Given the description of an element on the screen output the (x, y) to click on. 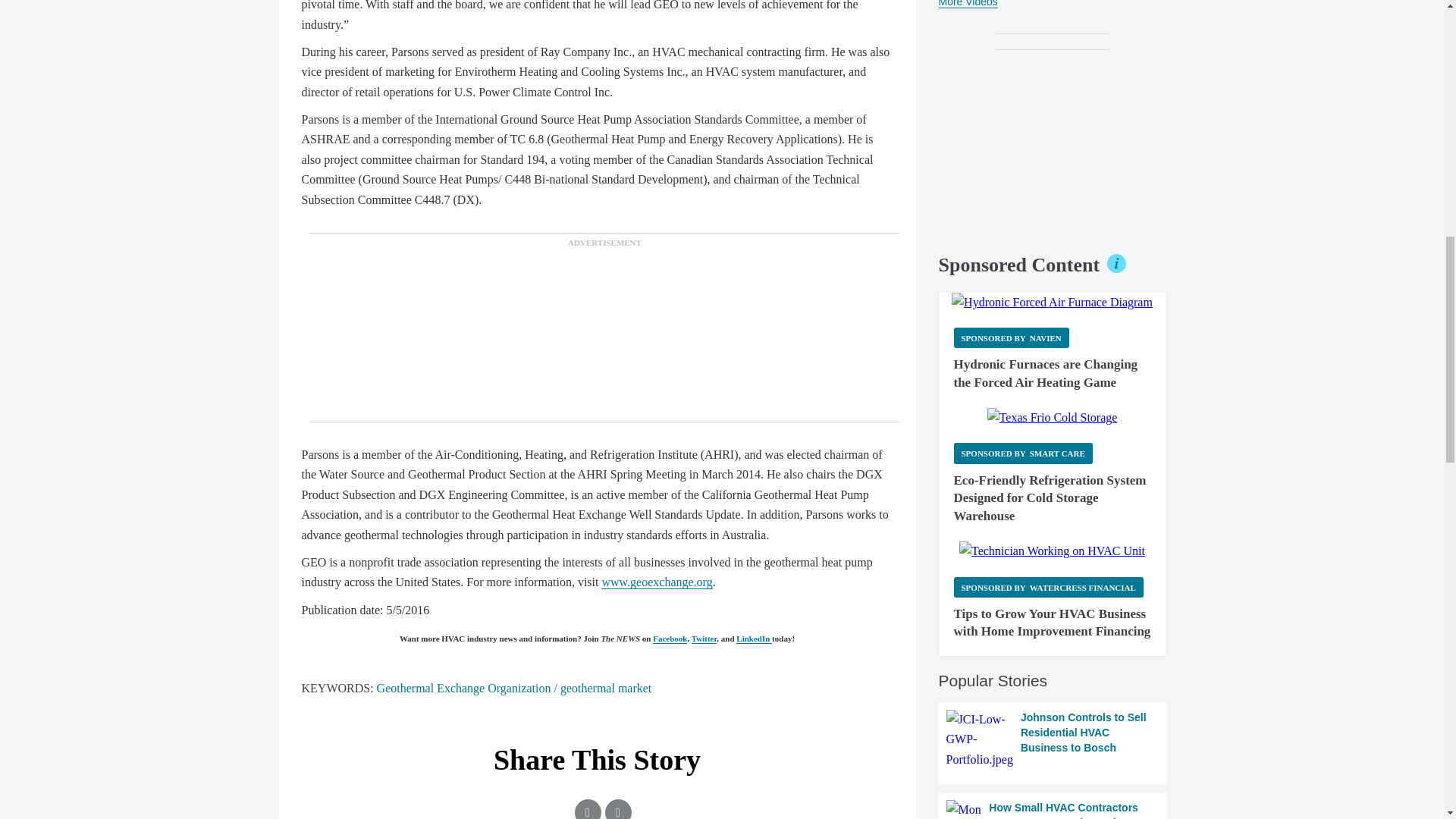
Johnson Controls to Sell Residential HVAC Business to Bosch (1052, 739)
Sponsored by Navien (1010, 337)
Texas Frio Cold Storage (1052, 417)
Sponsored by Watercress Financial (1047, 586)
Hydronic Forced Air Furnace Diagram (1052, 302)
Sponsored by Smart Care (1023, 453)
Technician Working on HVAC Unit (1051, 551)
